Given the description of an element on the screen output the (x, y) to click on. 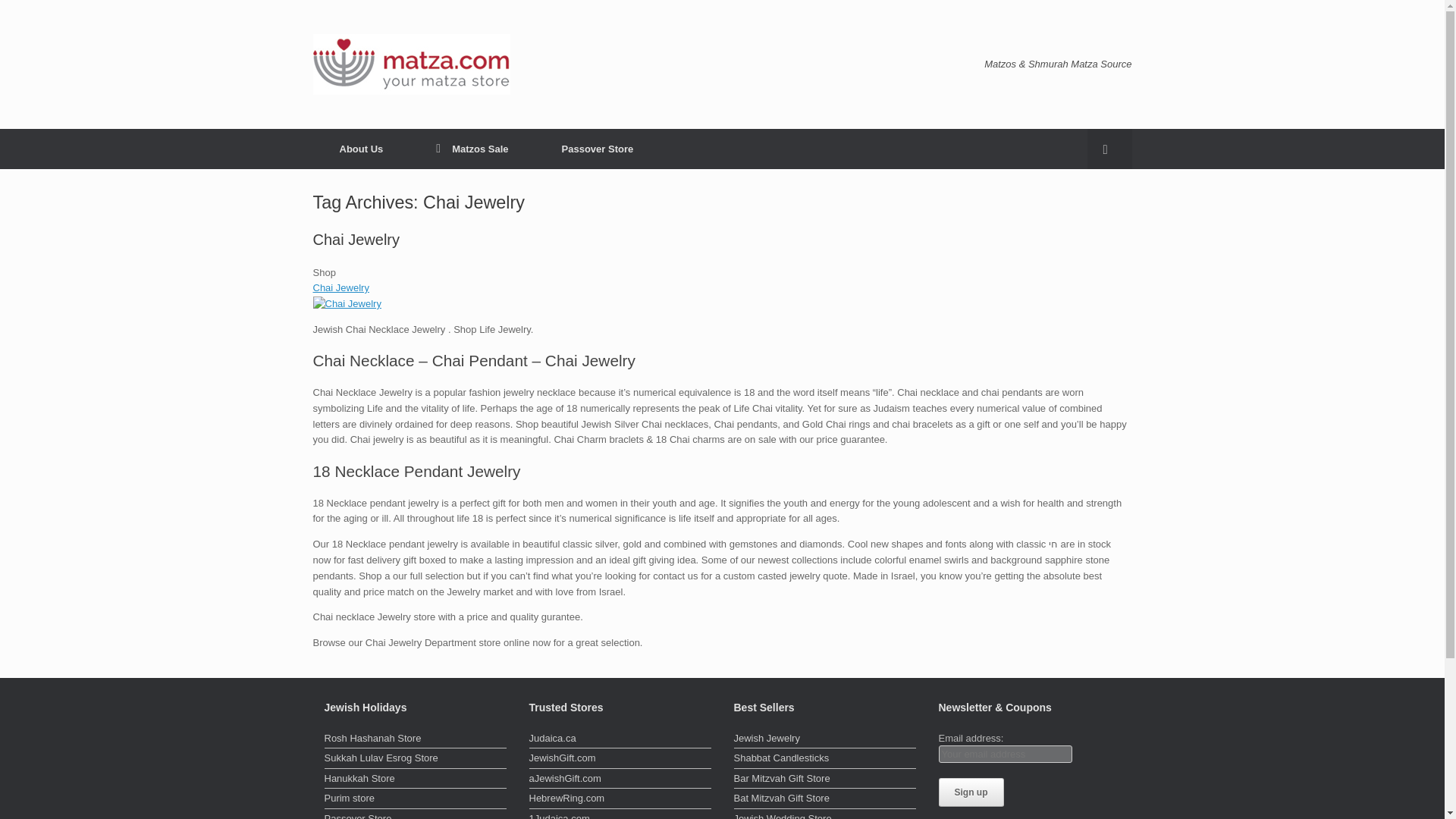
Rosh Hashanah Store (415, 740)
Judaica store (620, 740)
Hebrew Ring Jewish Wedding Rings (620, 800)
Rosh Hashanah Store (415, 740)
Matza For Sale (471, 148)
Sign up (971, 792)
Passover Store (415, 815)
1Judaica.com (620, 815)
Passover Store (415, 815)
Hanukkah Store (415, 780)
